Given the description of an element on the screen output the (x, y) to click on. 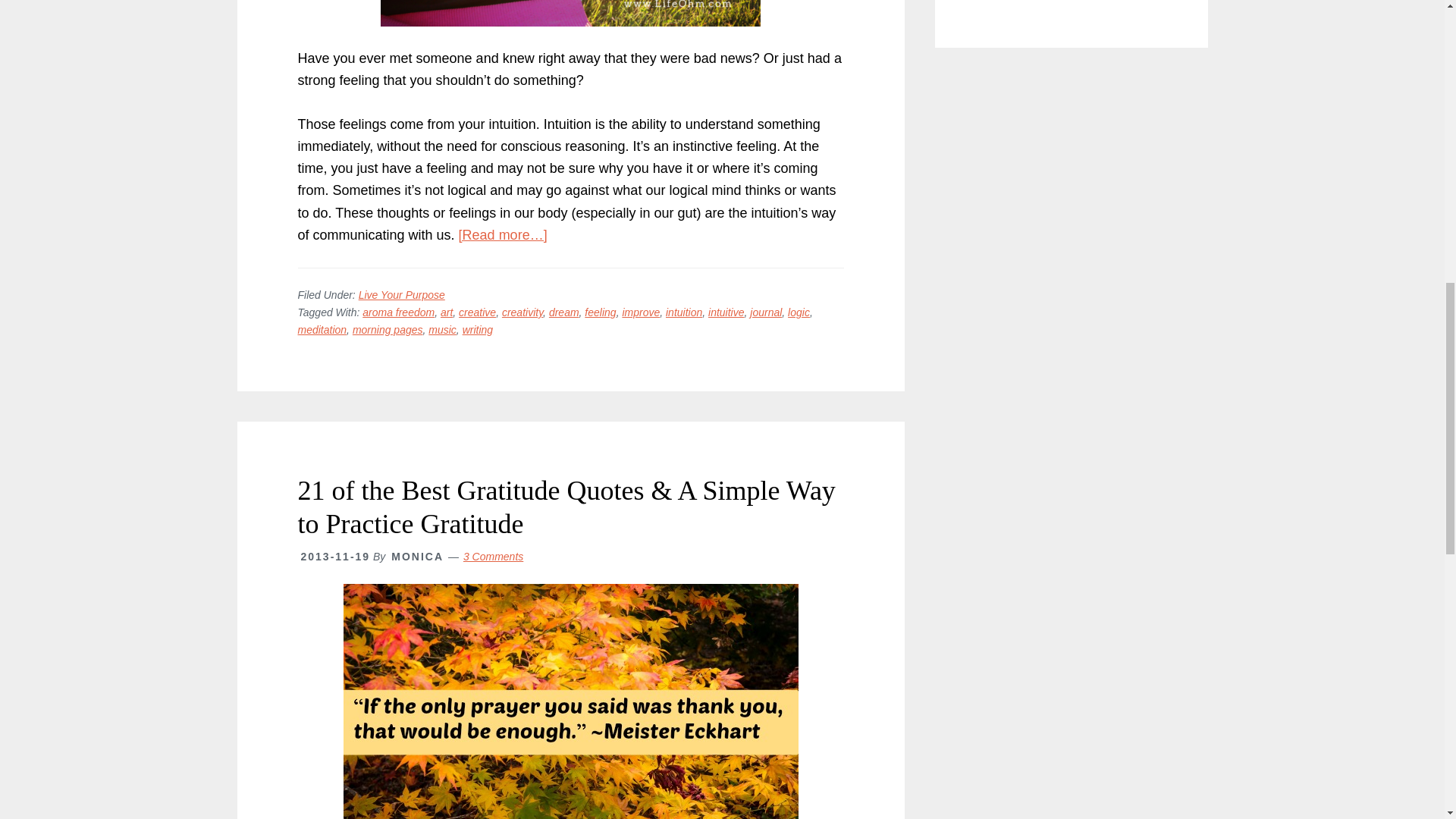
creativity (522, 312)
writing (478, 329)
meditation (321, 329)
journal (765, 312)
creative (477, 312)
logic (798, 312)
intuition (683, 312)
MONICA (417, 556)
music (442, 329)
art (446, 312)
morning pages (387, 329)
Live Your Purpose (401, 295)
improve (640, 312)
dream (563, 312)
aroma freedom (397, 312)
